Given the description of an element on the screen output the (x, y) to click on. 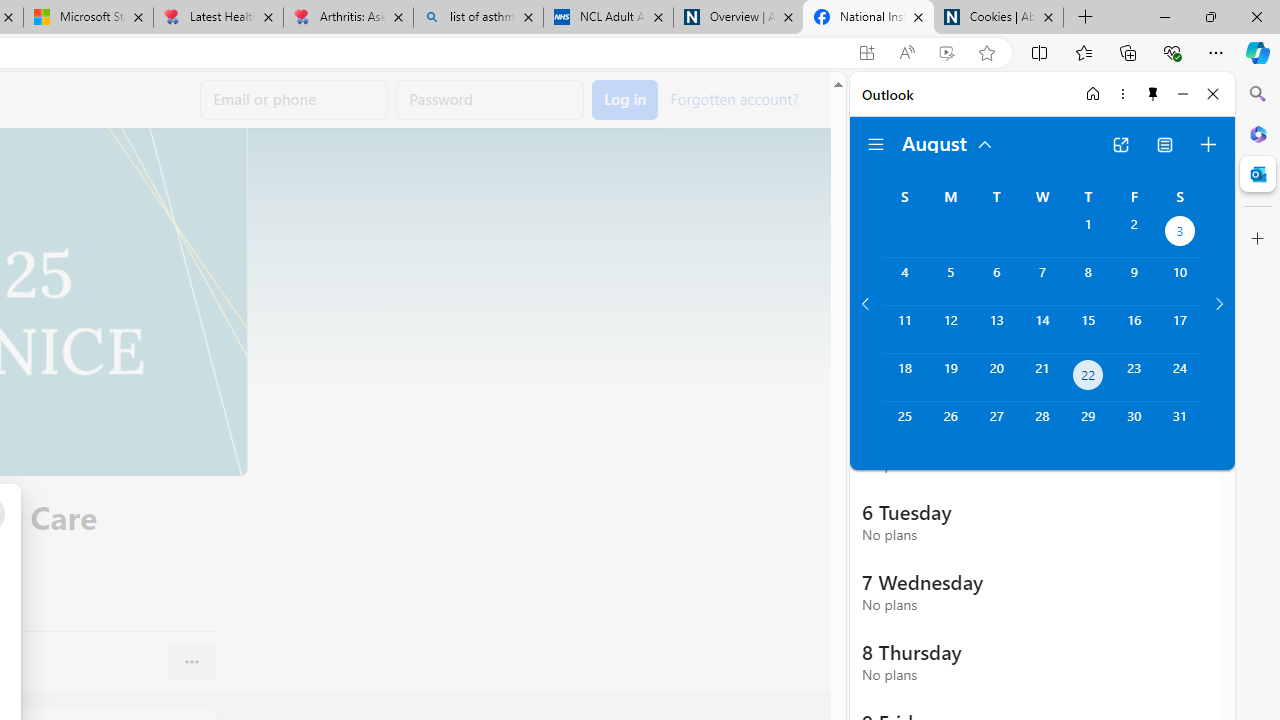
Password (489, 99)
Friday, August 30, 2024.  (1134, 425)
View Switcher. Current view is Agenda view (1165, 144)
Accessible login button (625, 99)
Saturday, August 31, 2024.  (1180, 425)
Monday, August 5, 2024.  (950, 281)
Friday, August 2, 2024.  (1134, 233)
